Given the description of an element on the screen output the (x, y) to click on. 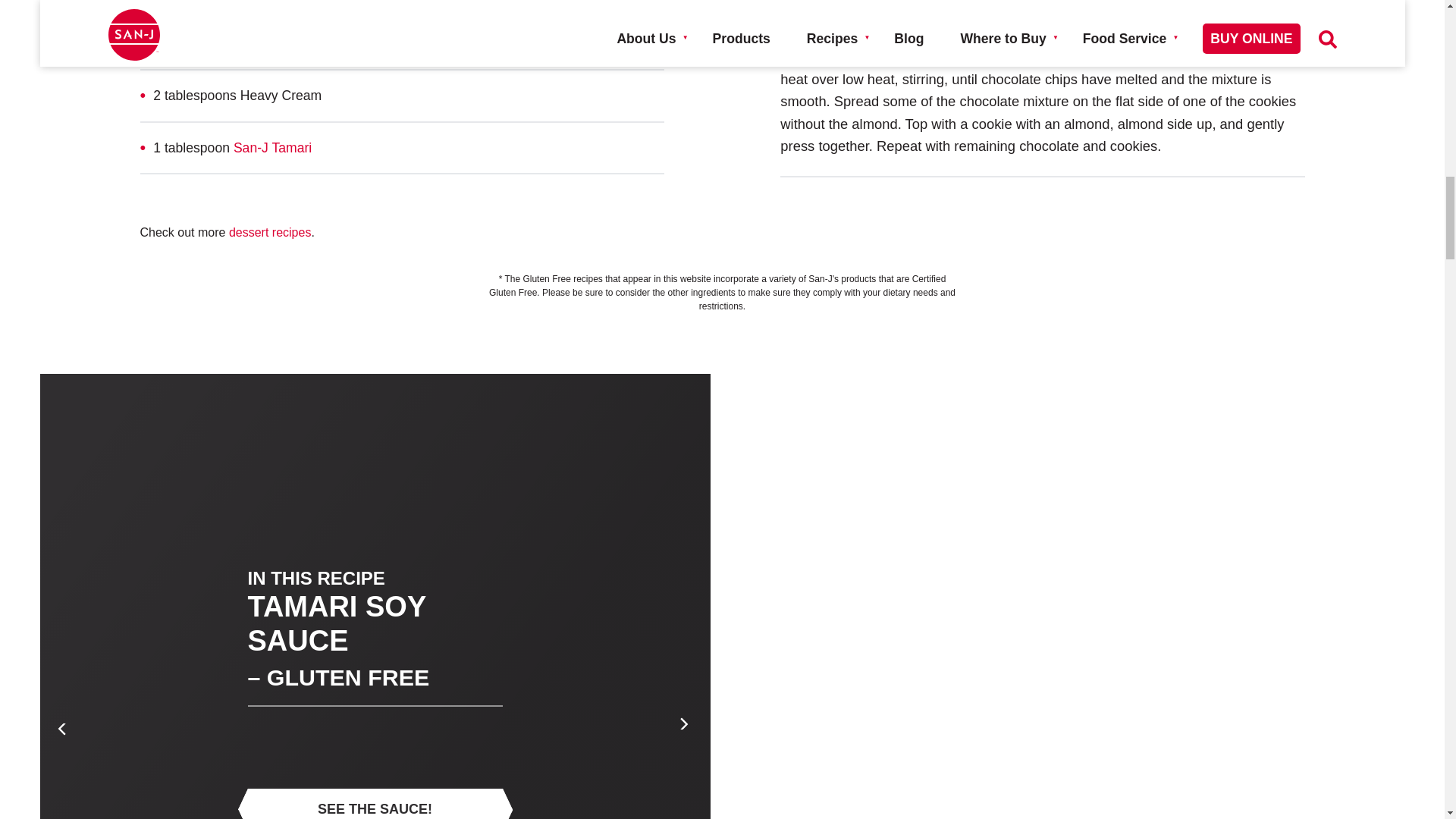
San-J Tamari (271, 147)
San-J Tamari (1094, 56)
